Given the description of an element on the screen output the (x, y) to click on. 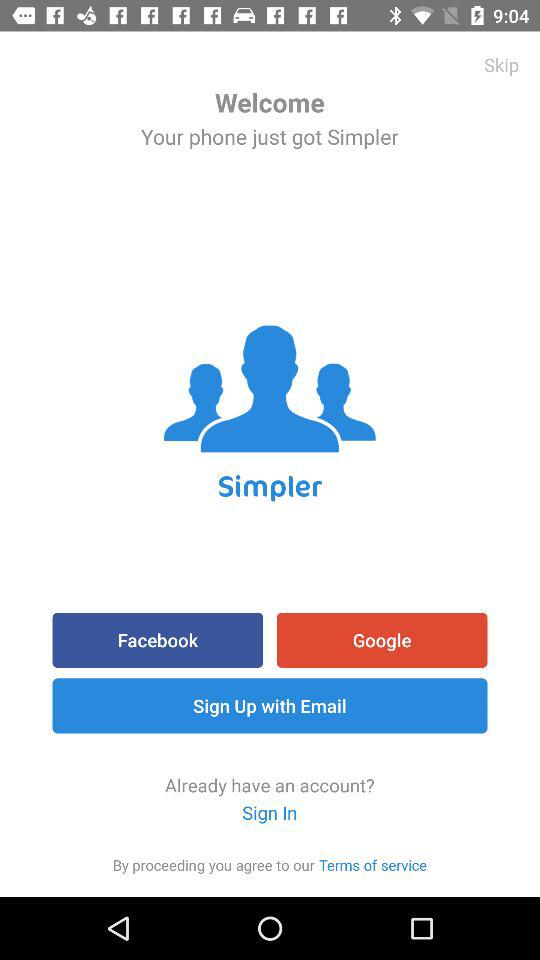
scroll until the google icon (381, 639)
